Given the description of an element on the screen output the (x, y) to click on. 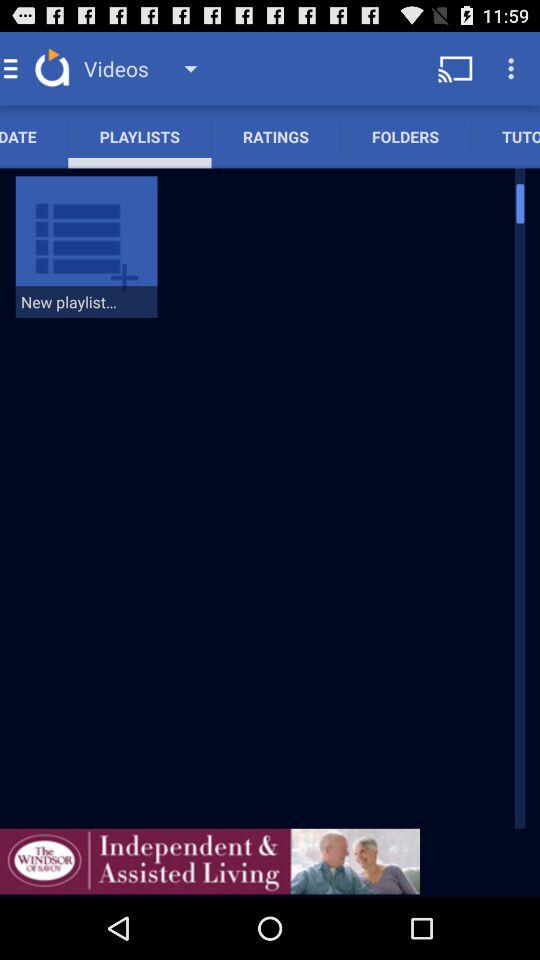
advertisement page (210, 861)
